Given the description of an element on the screen output the (x, y) to click on. 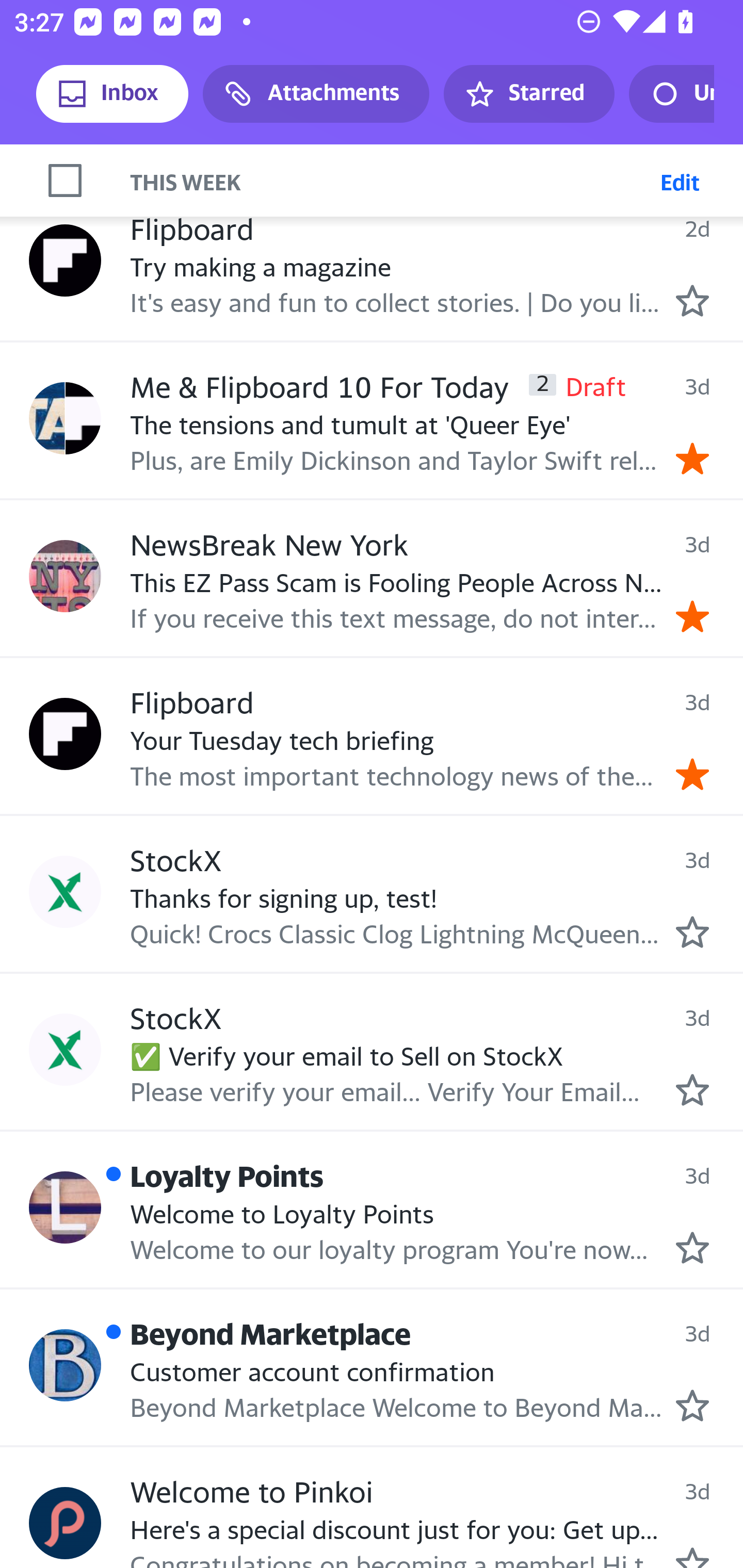
Attachments (315, 93)
Starred (528, 93)
Unread (671, 93)
Profile
Flipboard (64, 260)
Mark as starred. (692, 300)
Profile
Me & Flipboard 10 For Today (64, 418)
Remove star. (692, 458)
Profile
NewsBreak New York (64, 575)
Remove star. (692, 616)
Profile
Flipboard (64, 733)
Remove star. (692, 773)
Profile
StockX (64, 892)
Mark as starred. (692, 932)
Profile
StockX (64, 1048)
Mark as starred. (692, 1090)
Profile
Loyalty Points (64, 1207)
Mark as starred. (692, 1247)
Profile
Beyond Marketplace (64, 1365)
Mark as starred. (692, 1405)
Profile
Welcome to Pinkoi (64, 1522)
